Given the description of an element on the screen output the (x, y) to click on. 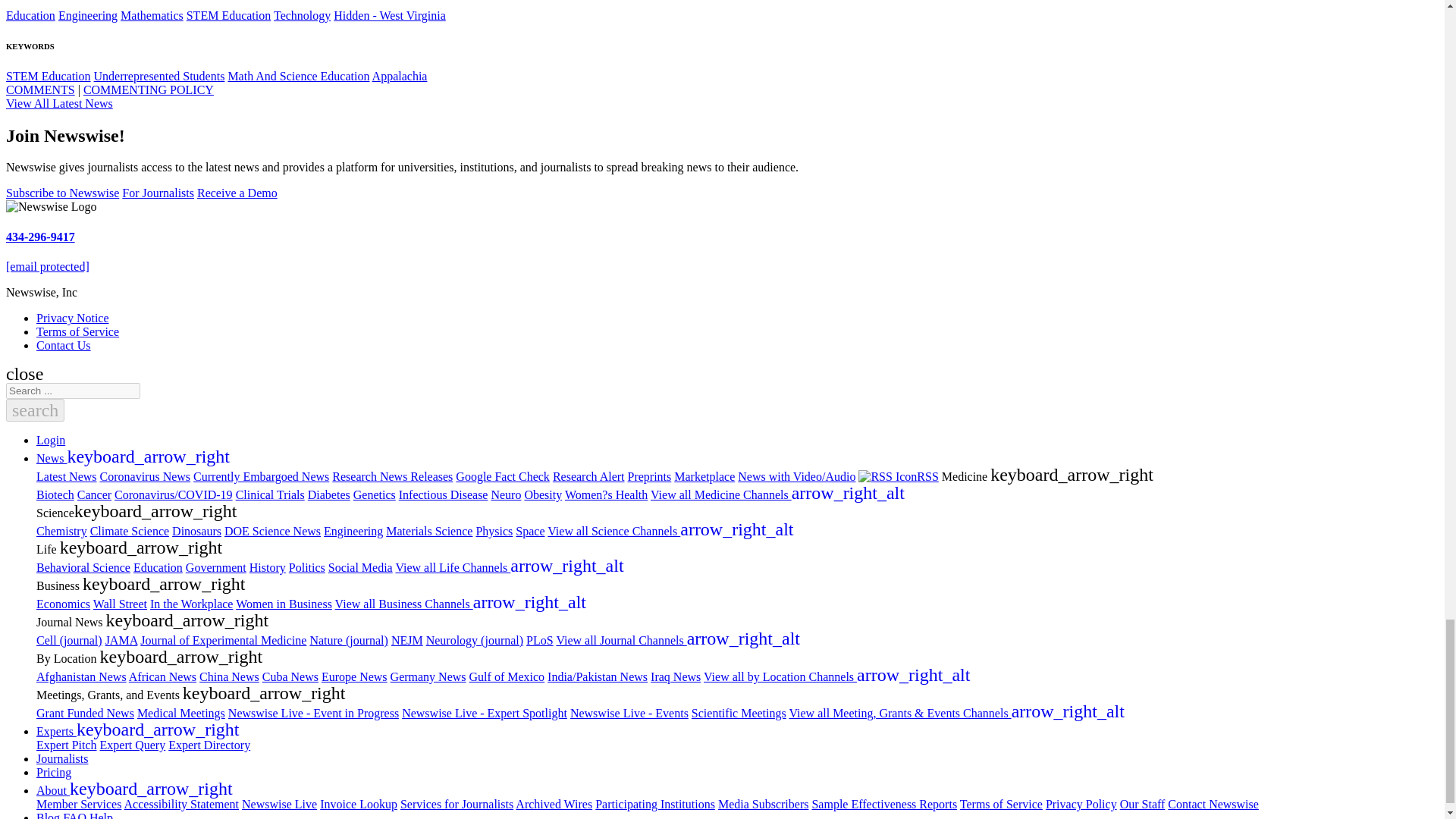
Show all articles in this channel (30, 15)
Show all articles in this channel (151, 15)
Show all articles in this channel (87, 15)
